Given the description of an element on the screen output the (x, y) to click on. 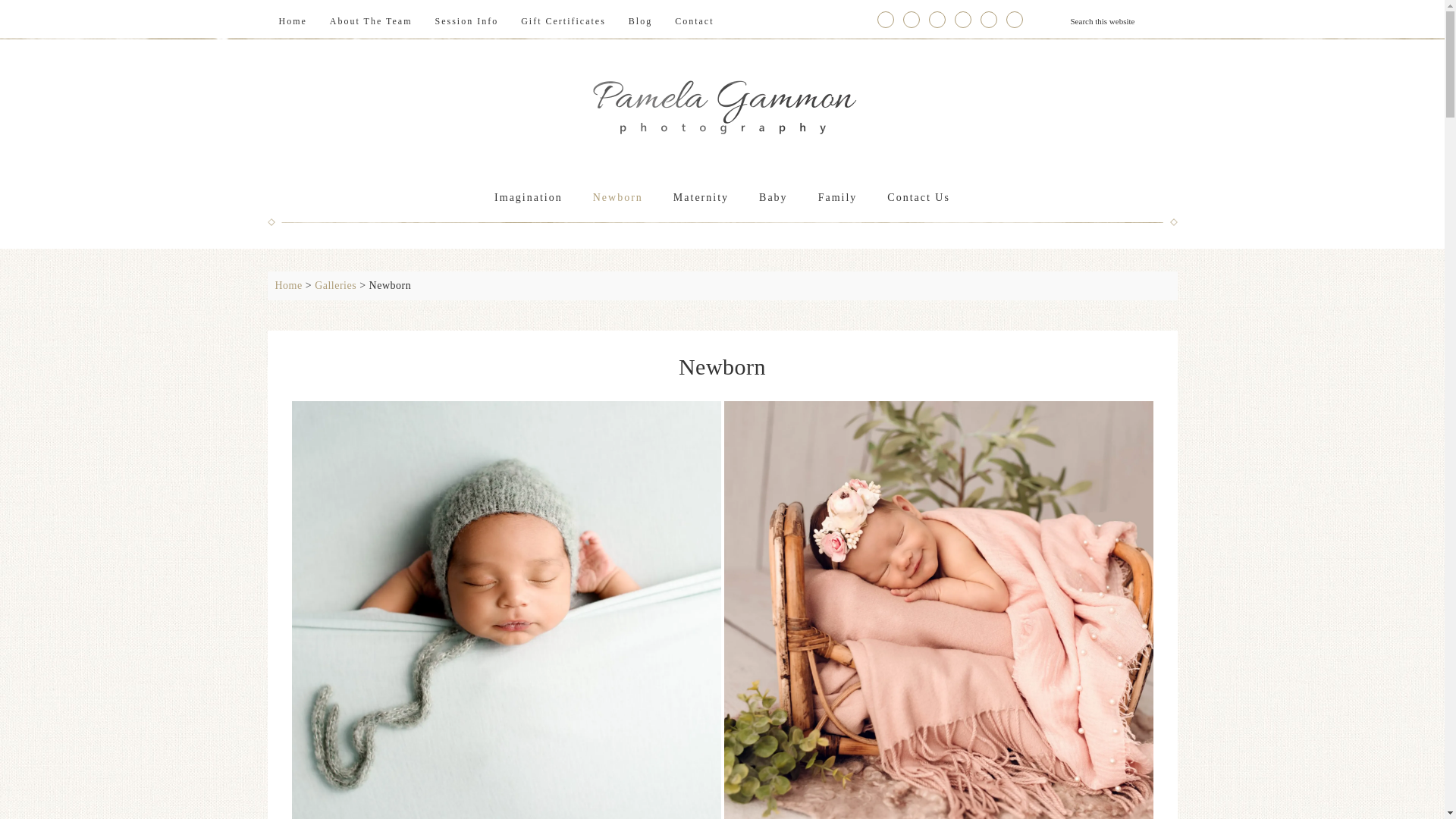
Gift Certificates (563, 20)
Home (291, 20)
Blog (640, 20)
Home (288, 285)
Family (837, 197)
Contact Us (918, 197)
Contact (694, 20)
Galleries (335, 285)
